Given the description of an element on the screen output the (x, y) to click on. 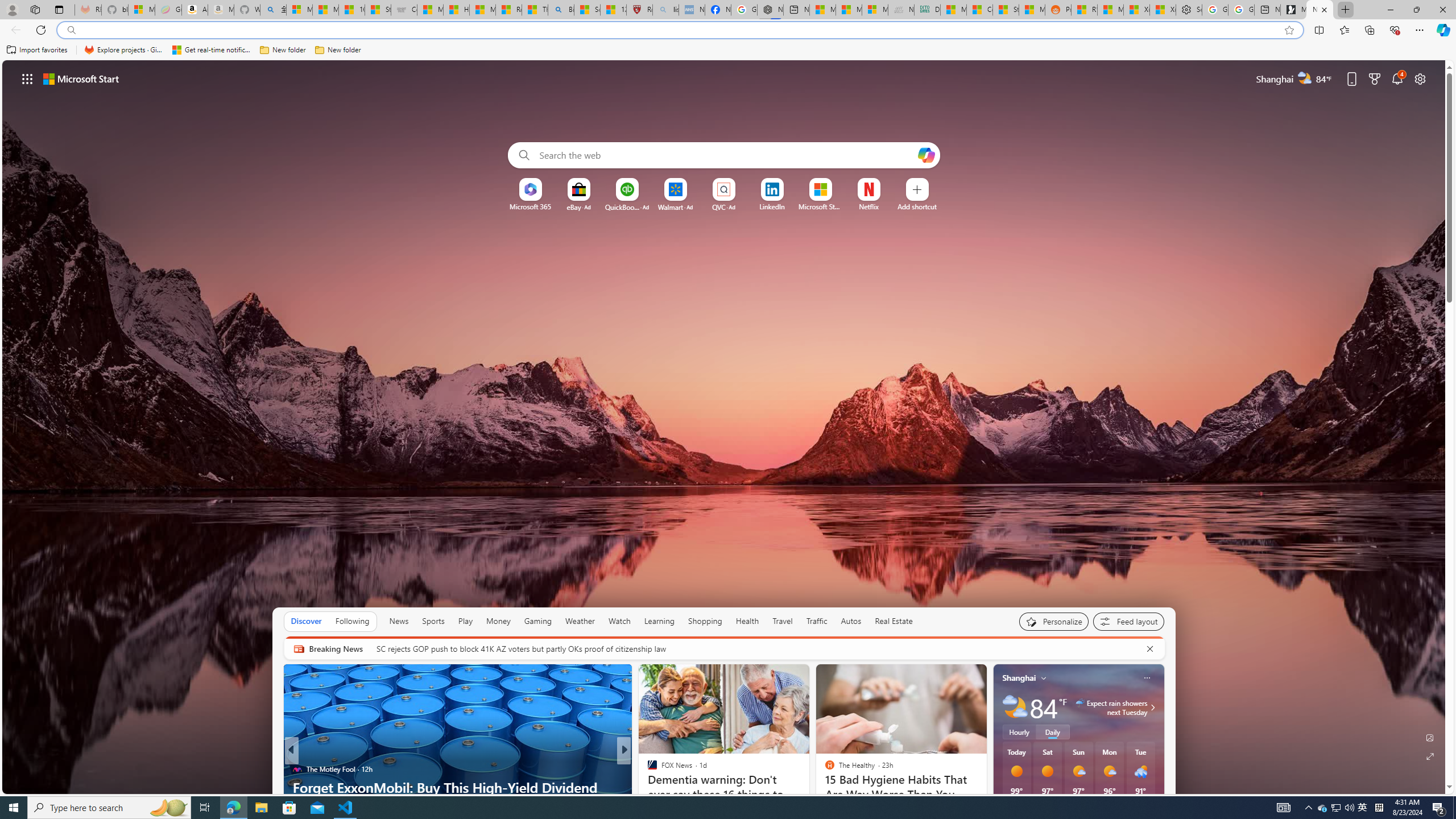
25 Healthy 30 Minute Meals to Up Your Kitchen Game (807, 796)
Sunny (1047, 771)
